Given the description of an element on the screen output the (x, y) to click on. 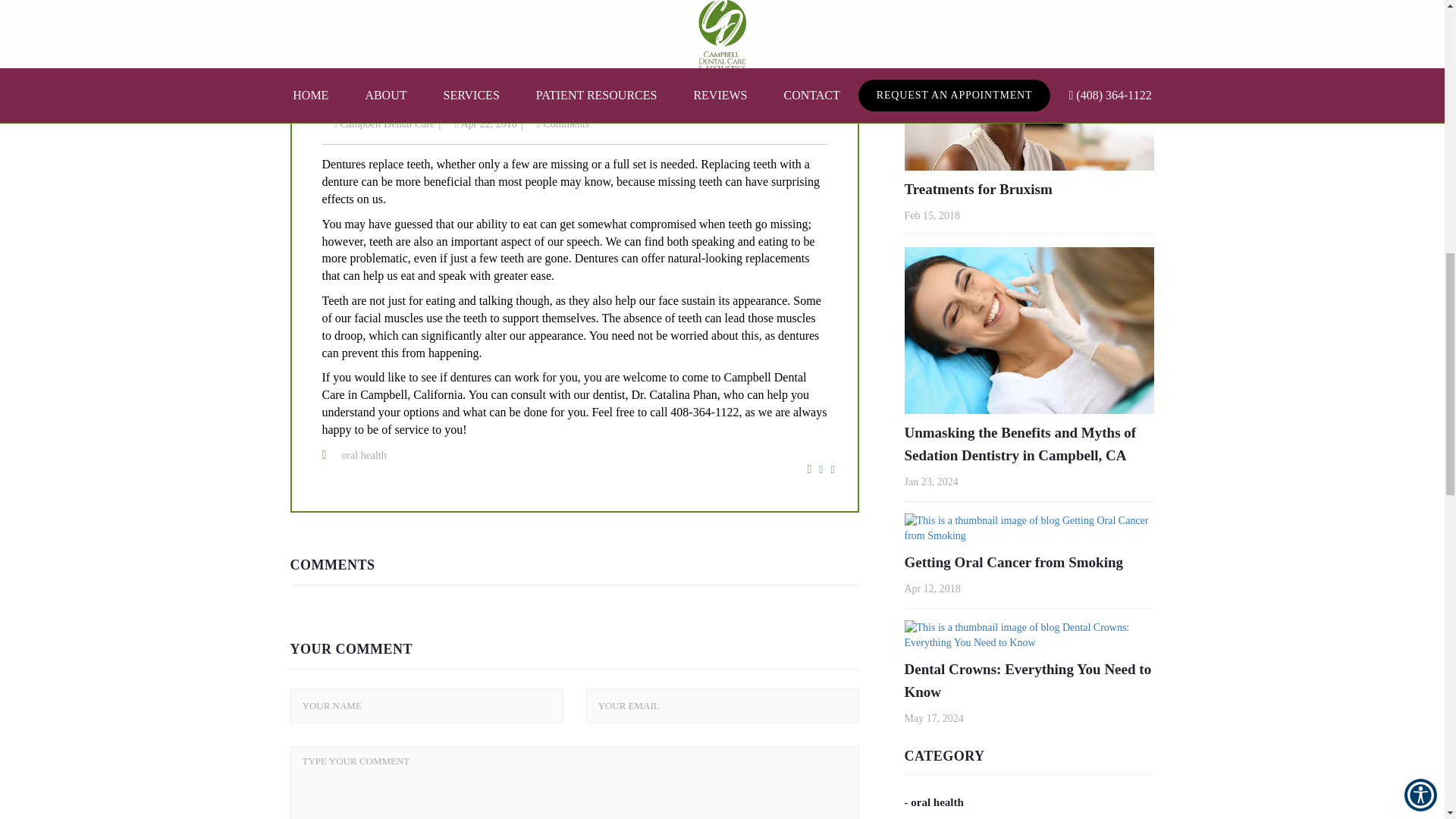
Aspects About Dentures You May Not Have Considered (574, 24)
Apr 22, 2018 (485, 123)
This is a thumbnail image of blog Treatments for Bruxism (1029, 87)
Aspects About Dentures You May Not Have Considered (574, 97)
Comments (563, 123)
oral health (362, 455)
 Campbell Dental Care (384, 123)
